Given the description of an element on the screen output the (x, y) to click on. 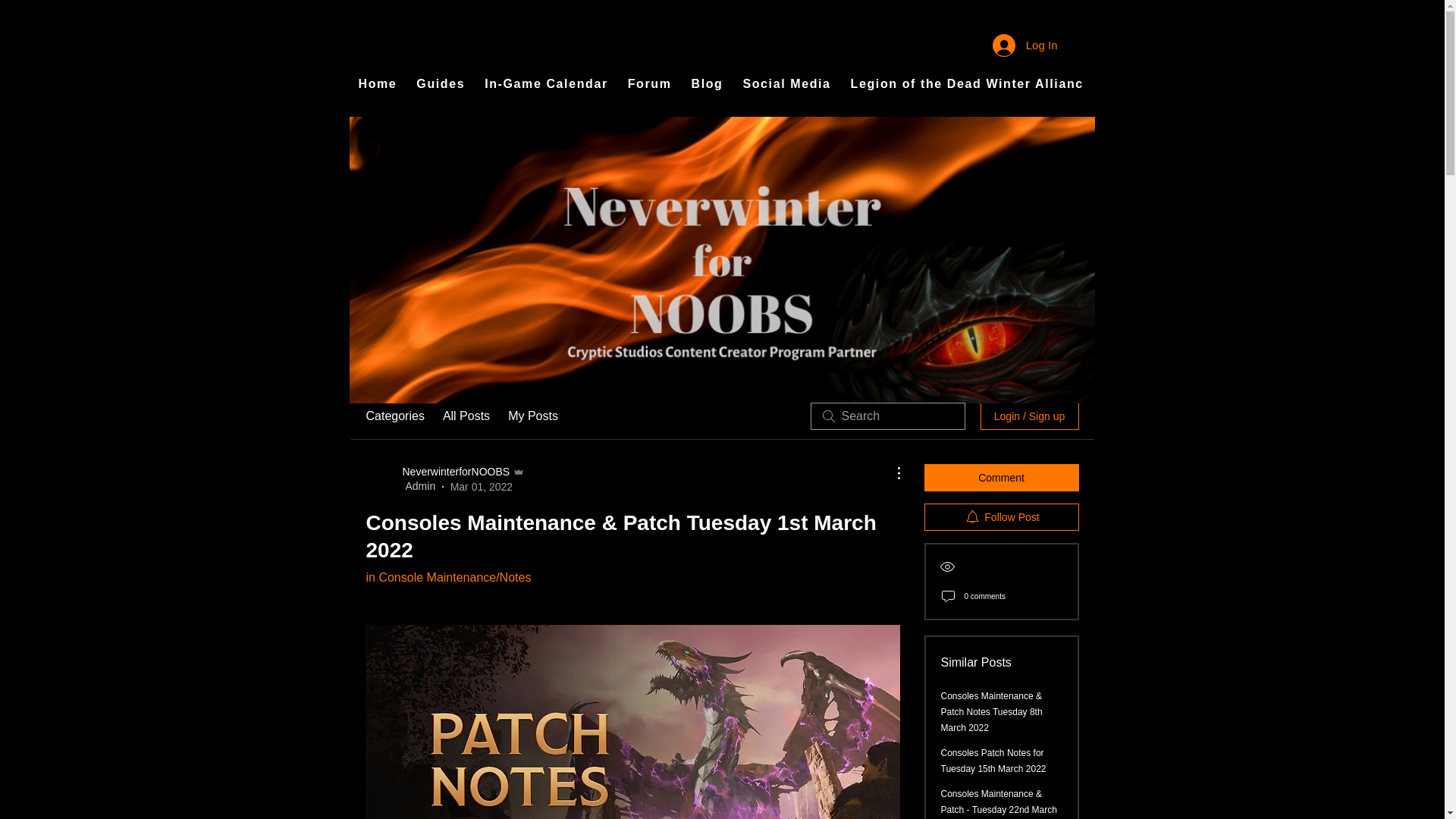
Forum (649, 84)
Categories (394, 416)
NWN on Mobile (1223, 84)
Blog (707, 84)
My Posts (532, 416)
Guides (440, 84)
Teespring Store (1350, 84)
All Posts (465, 416)
Home (377, 84)
In-Game Calendar (546, 84)
